Given the description of an element on the screen output the (x, y) to click on. 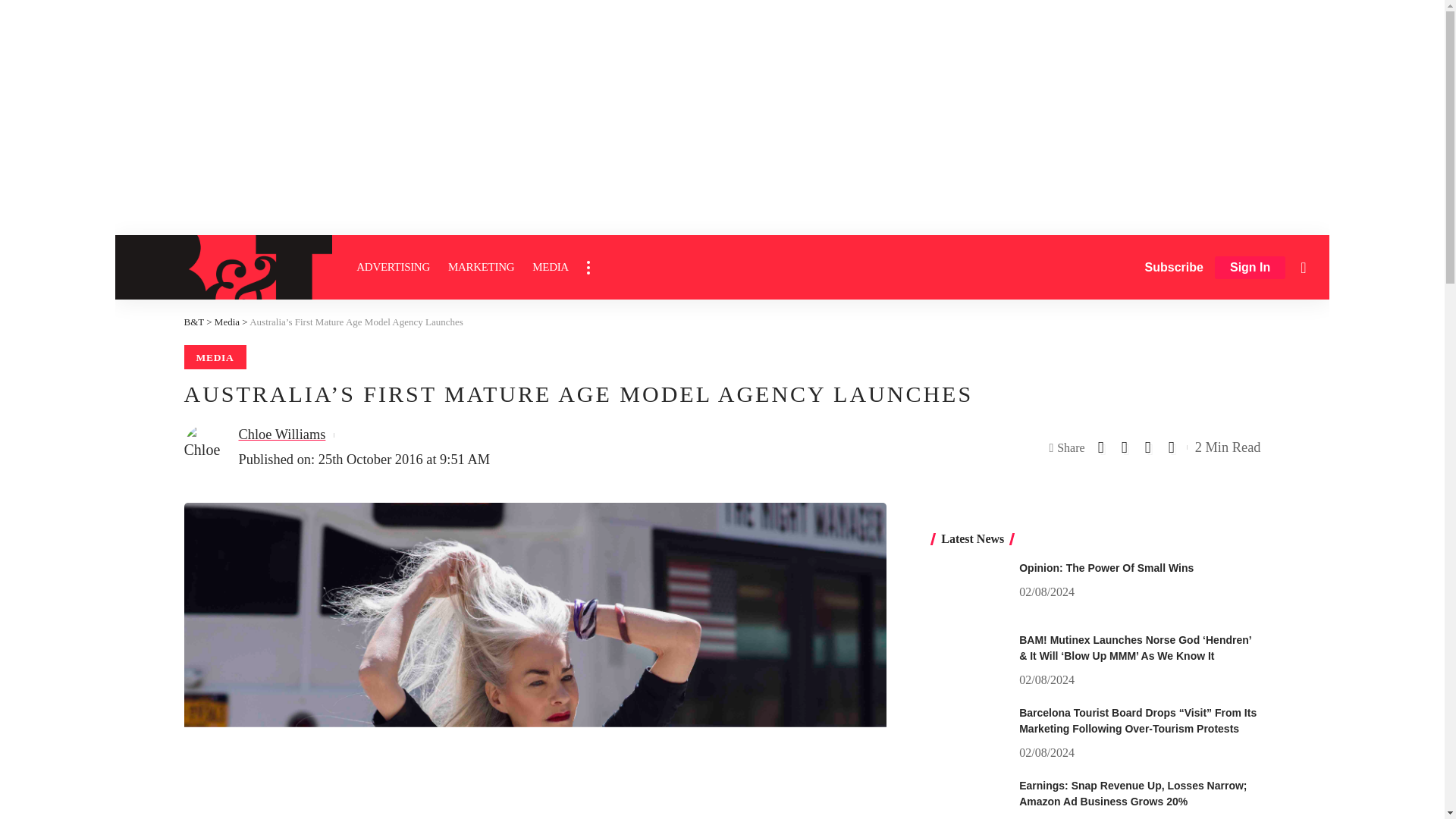
Go to the Media Category archives. (227, 321)
Subscribe (1174, 267)
Sign In (1249, 267)
ADVERTISING (393, 267)
MARKETING (480, 267)
Opinion: The Power Of Small Wins (969, 588)
